Given the description of an element on the screen output the (x, y) to click on. 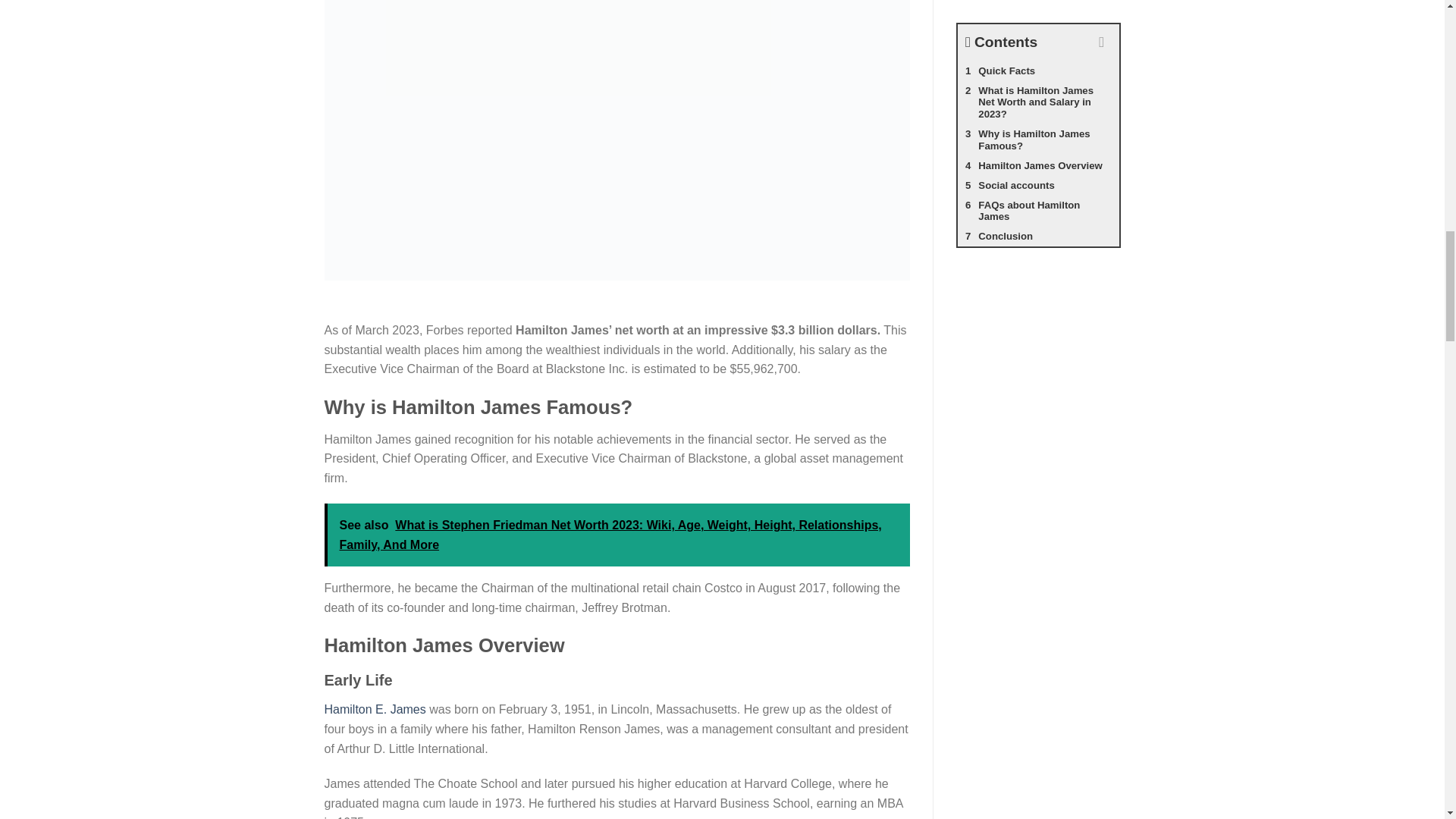
Hamilton E. James (375, 708)
Hamilton E. James (375, 708)
